Given the description of an element on the screen output the (x, y) to click on. 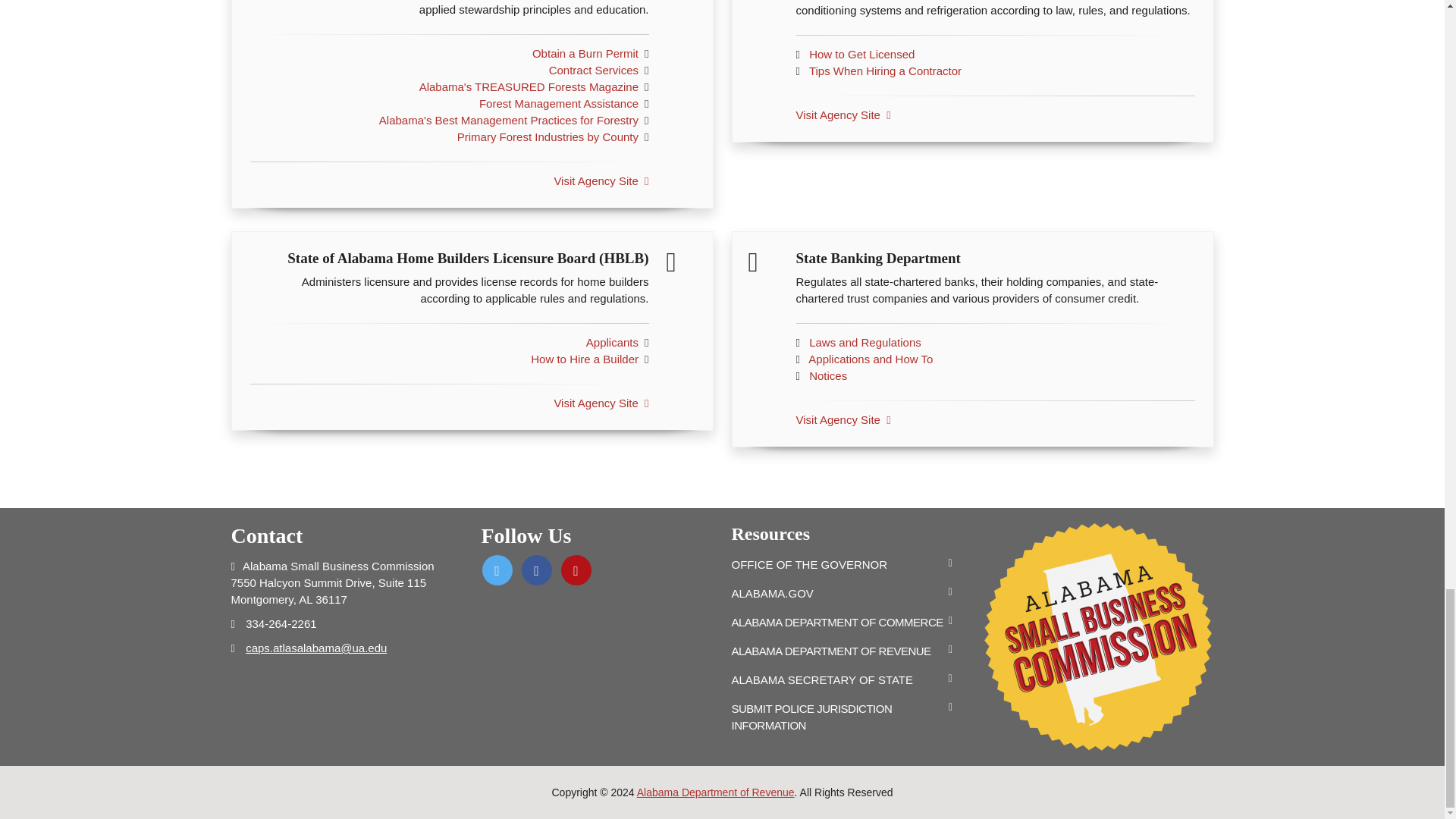
Twitter (496, 570)
YouTube (575, 570)
Facebook (536, 570)
